Given the description of an element on the screen output the (x, y) to click on. 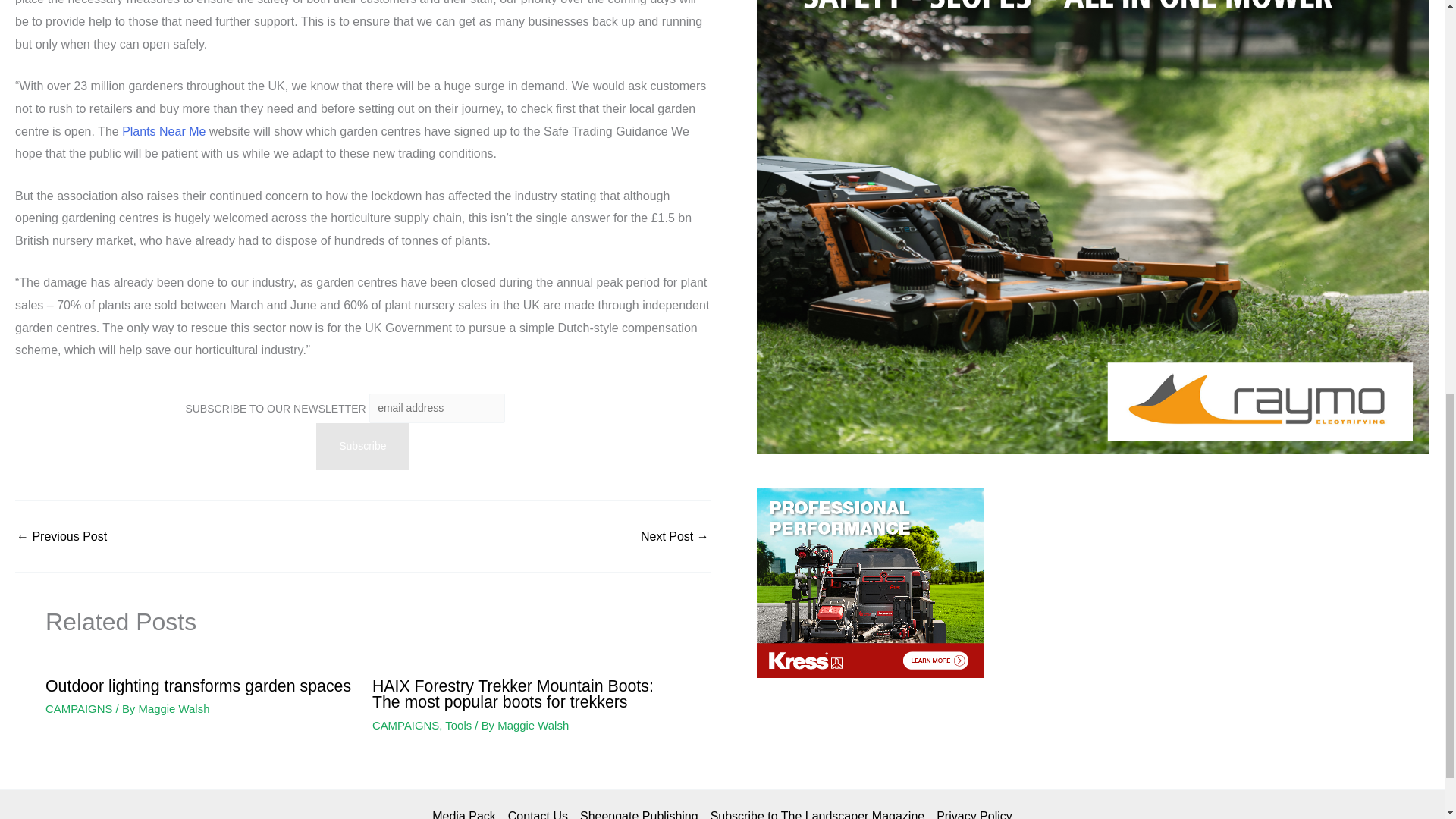
View all posts by Maggie Walsh (173, 707)
Subscribe (362, 446)
Six steps to attract landscaping customers (674, 536)
View all posts by Maggie Walsh (533, 725)
